Given the description of an element on the screen output the (x, y) to click on. 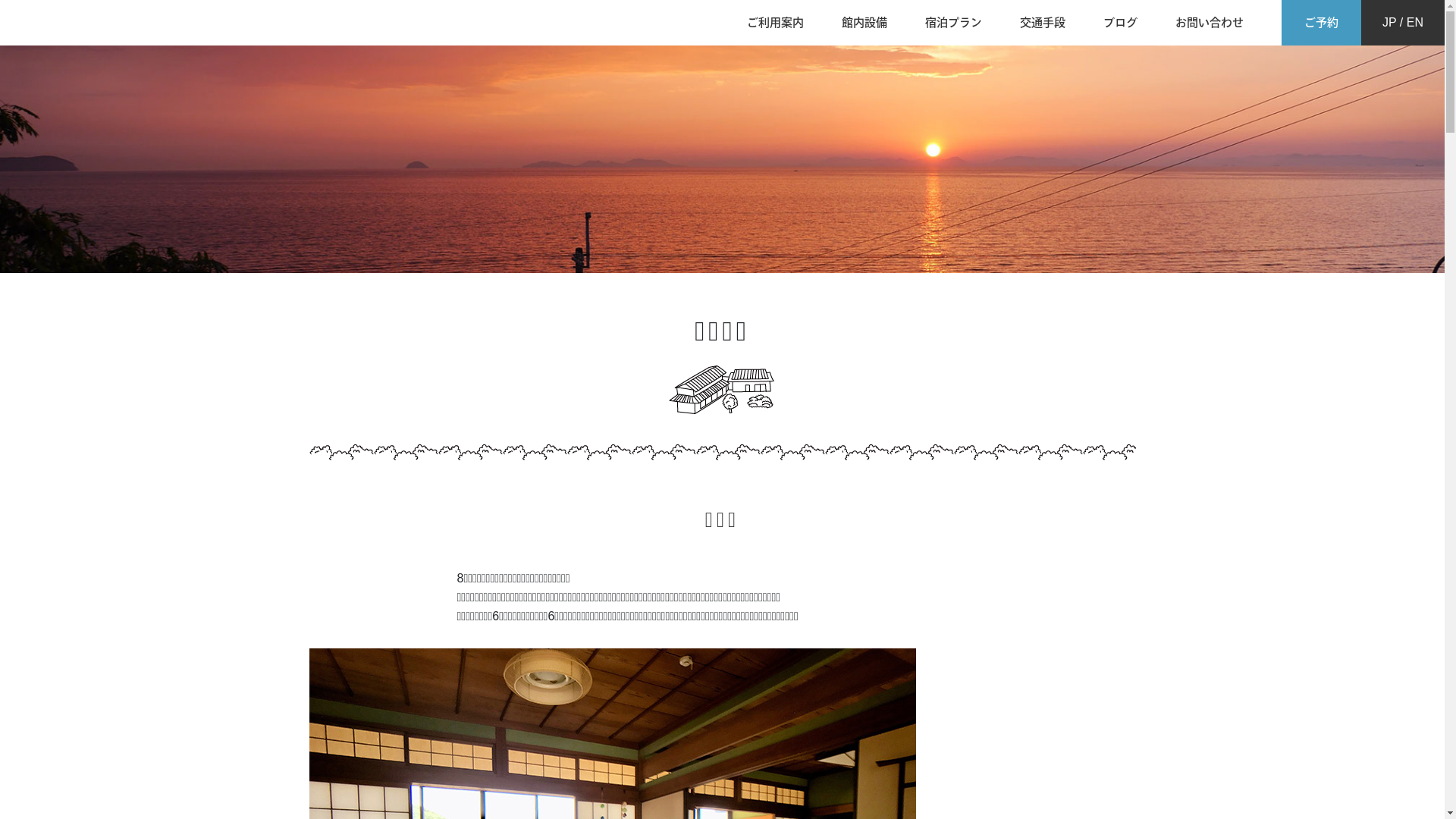
JP / EN Element type: text (1402, 22)
